Given the description of an element on the screen output the (x, y) to click on. 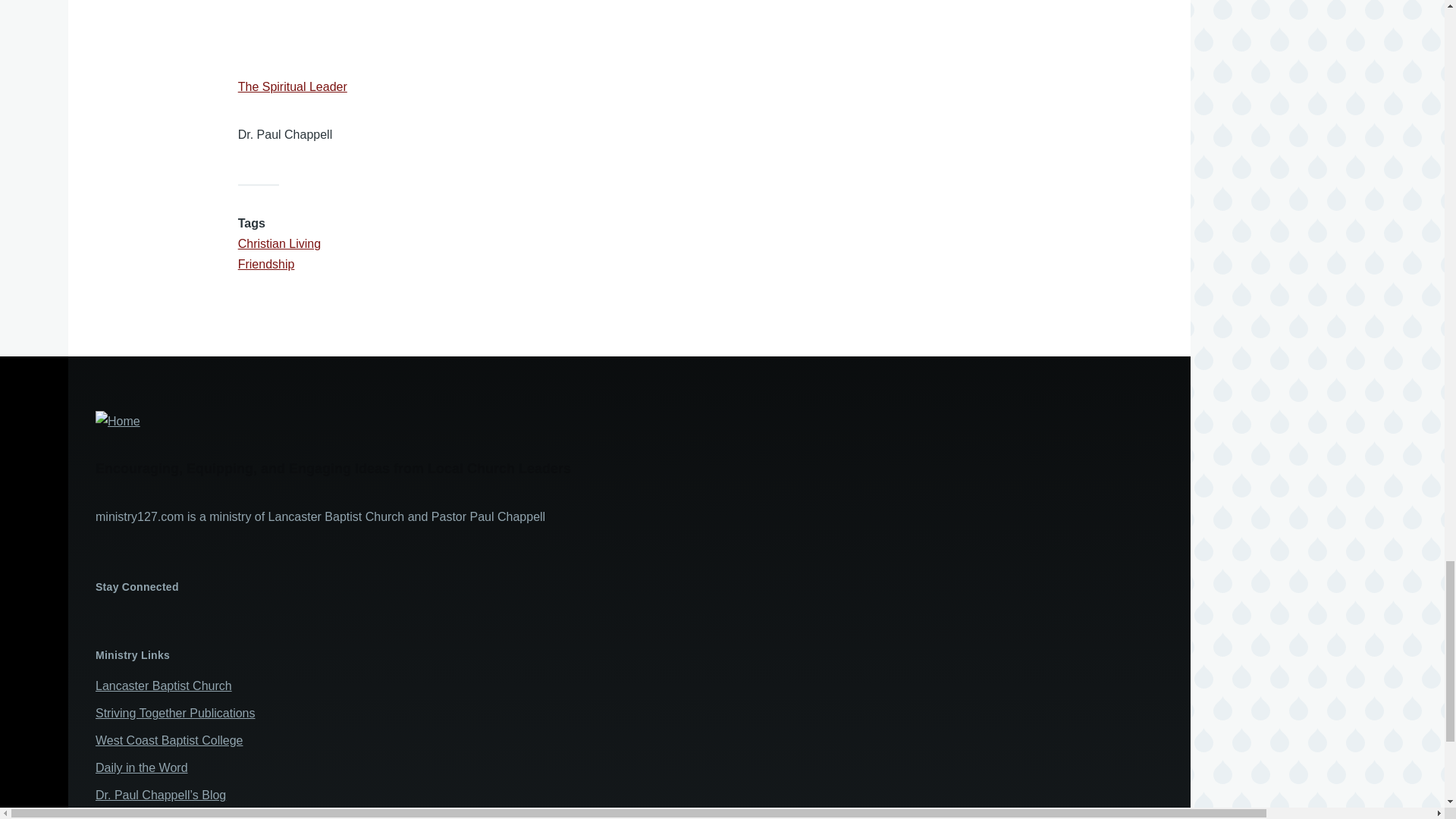
Christian Living (279, 243)
Lancaster Baptist Church (163, 685)
Spiritual Leadership Conference (182, 817)
West Coast Baptist College (169, 739)
Striving Together Publications (176, 712)
The Spiritual Leader (292, 86)
Home (580, 421)
Friendship (266, 264)
Daily in the Word (141, 767)
